Given the description of an element on the screen output the (x, y) to click on. 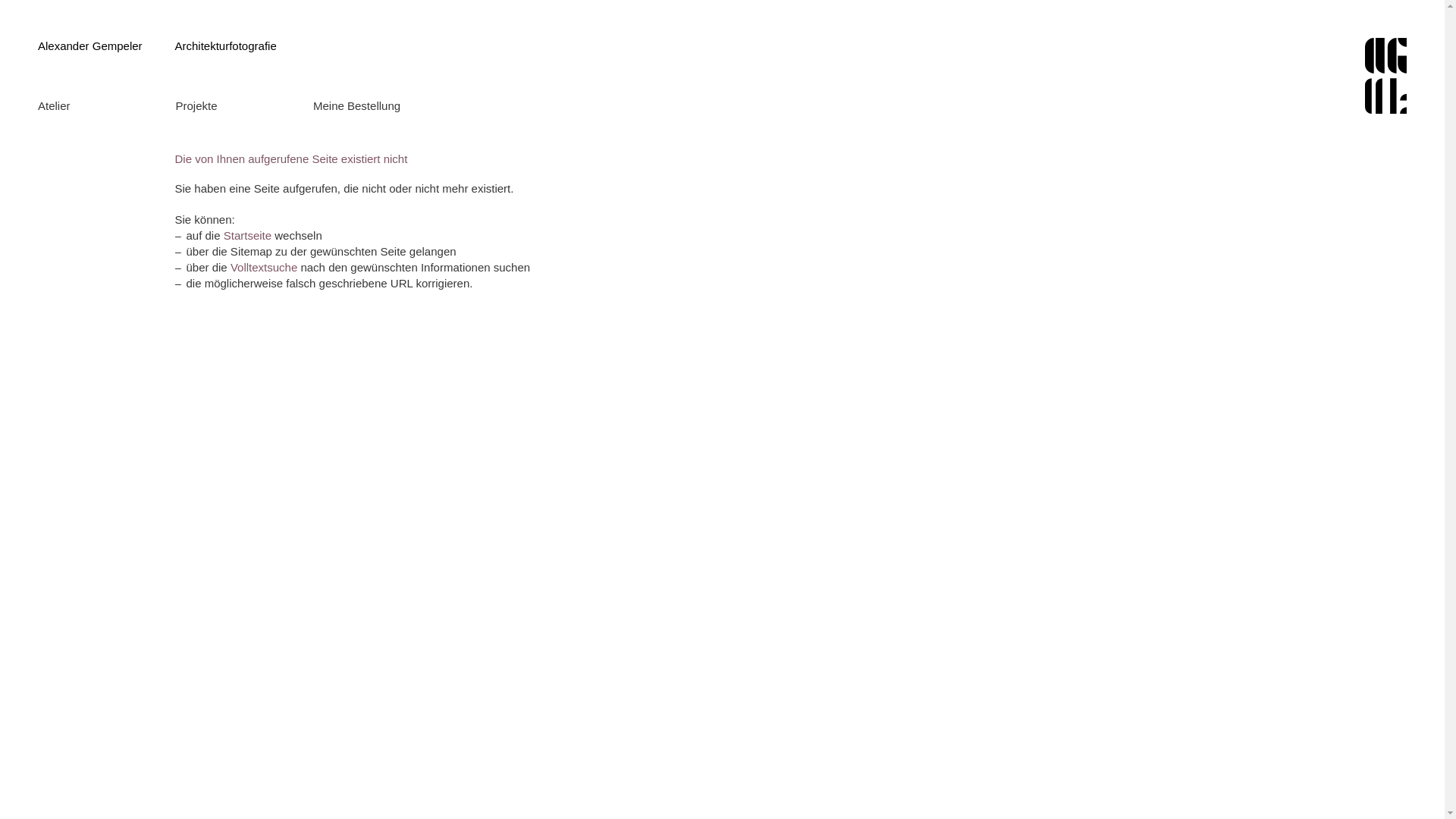
Meine Bestellung Element type: text (378, 105)
Startseite Element type: text (247, 235)
Projekte Element type: text (240, 105)
Atelier Element type: text (102, 105)
Volltextsuche Element type: text (263, 266)
Zur Startseite Element type: hover (1385, 75)
